Given the description of an element on the screen output the (x, y) to click on. 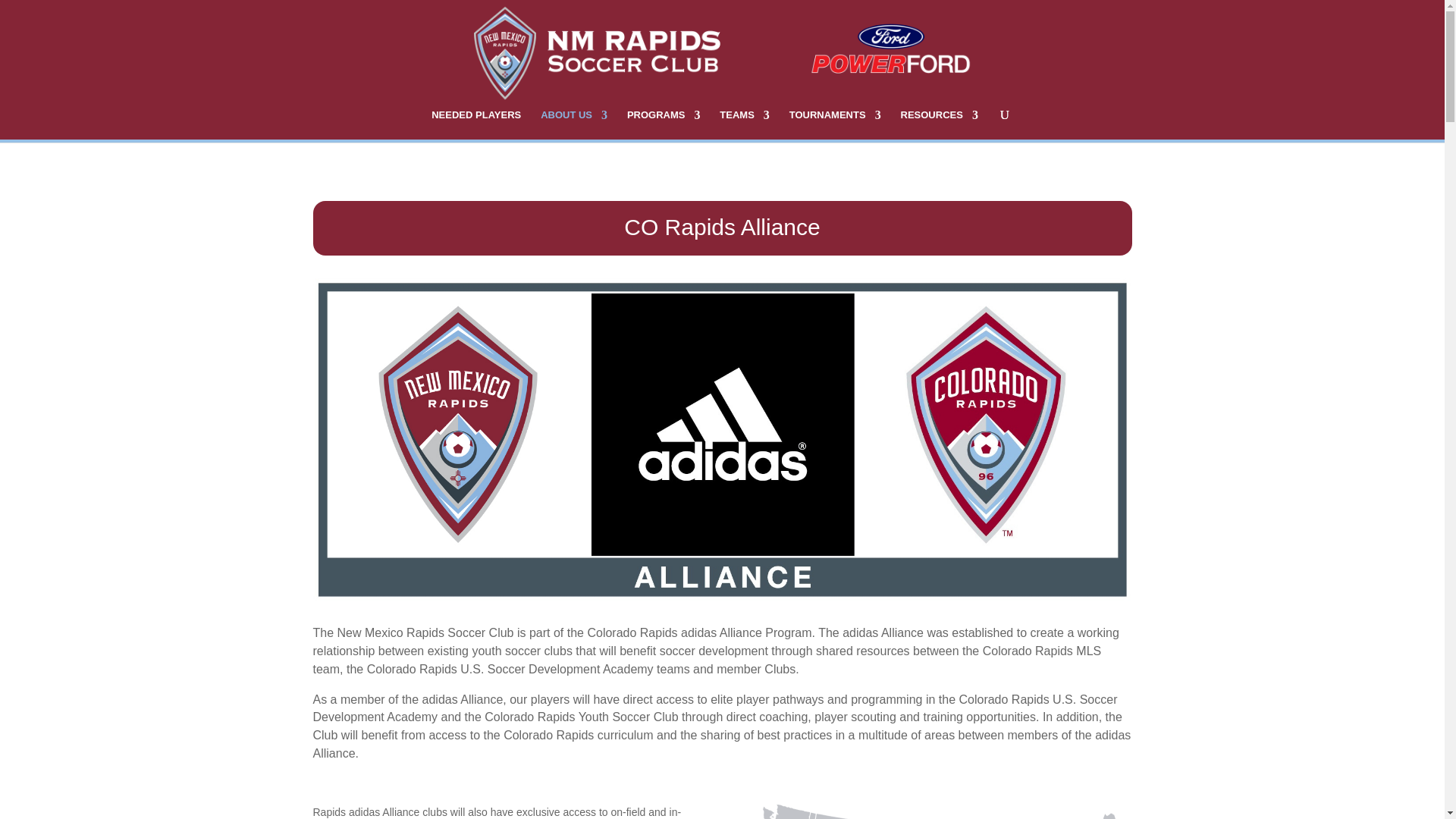
ABOUT US (573, 124)
NEEDED PLAYERS (475, 124)
CO Rapids Alliance 1 (937, 811)
PROGRAMS (663, 124)
